Given the description of an element on the screen output the (x, y) to click on. 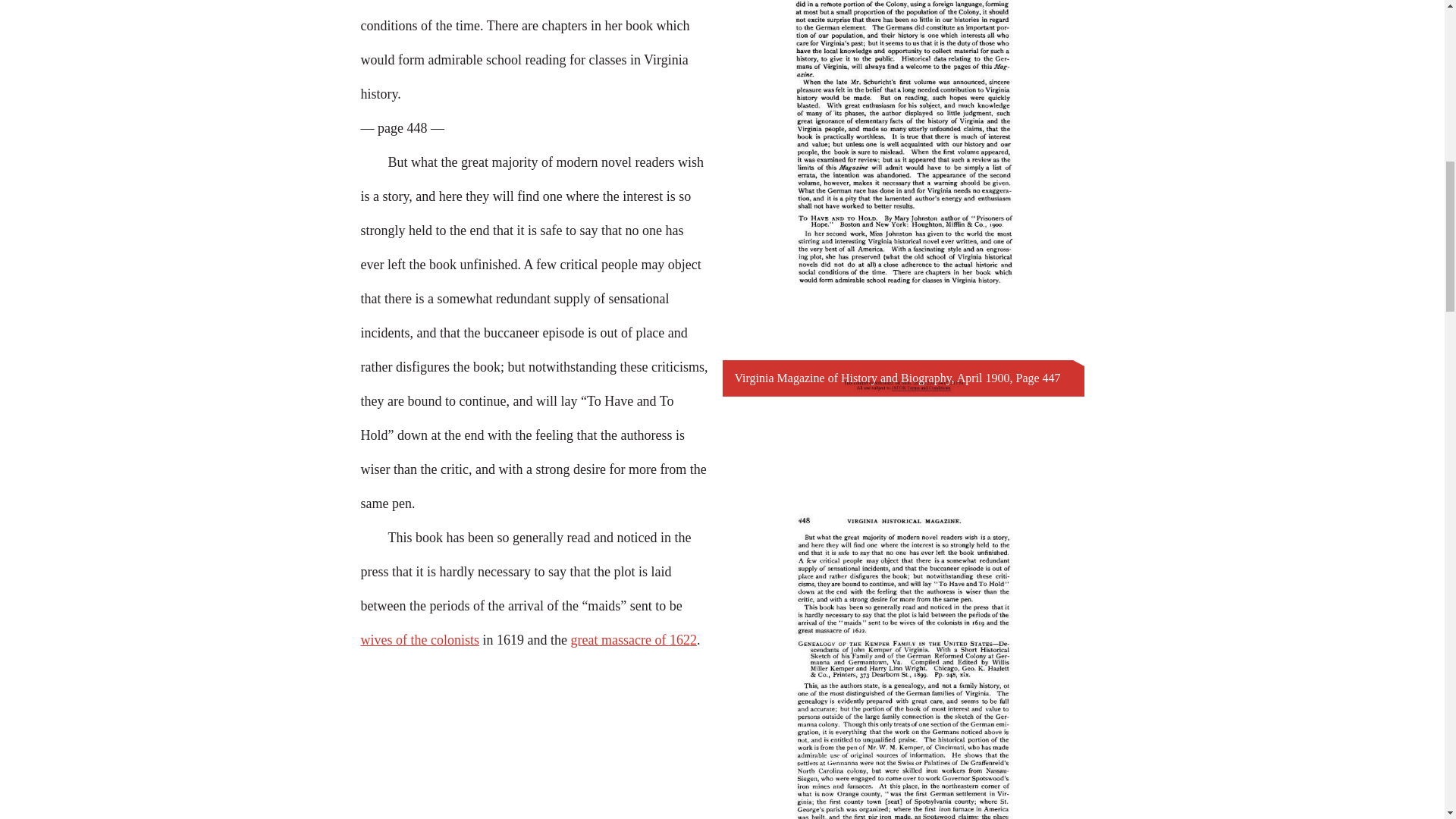
wives of the colonists (420, 639)
great massacre of 1622 (632, 639)
